Given the description of an element on the screen output the (x, y) to click on. 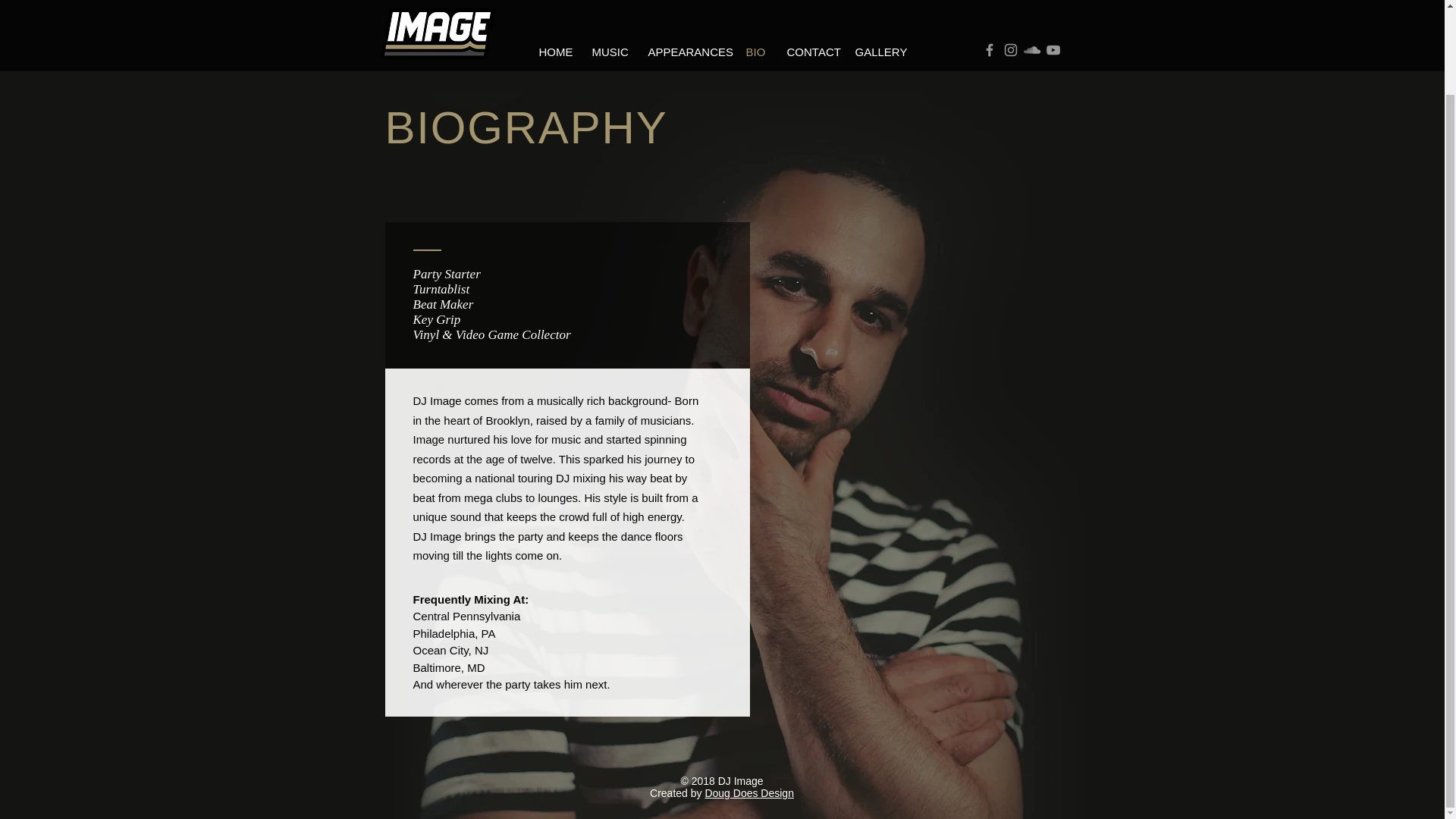
Doug Does Design (748, 793)
